Given the description of an element on the screen output the (x, y) to click on. 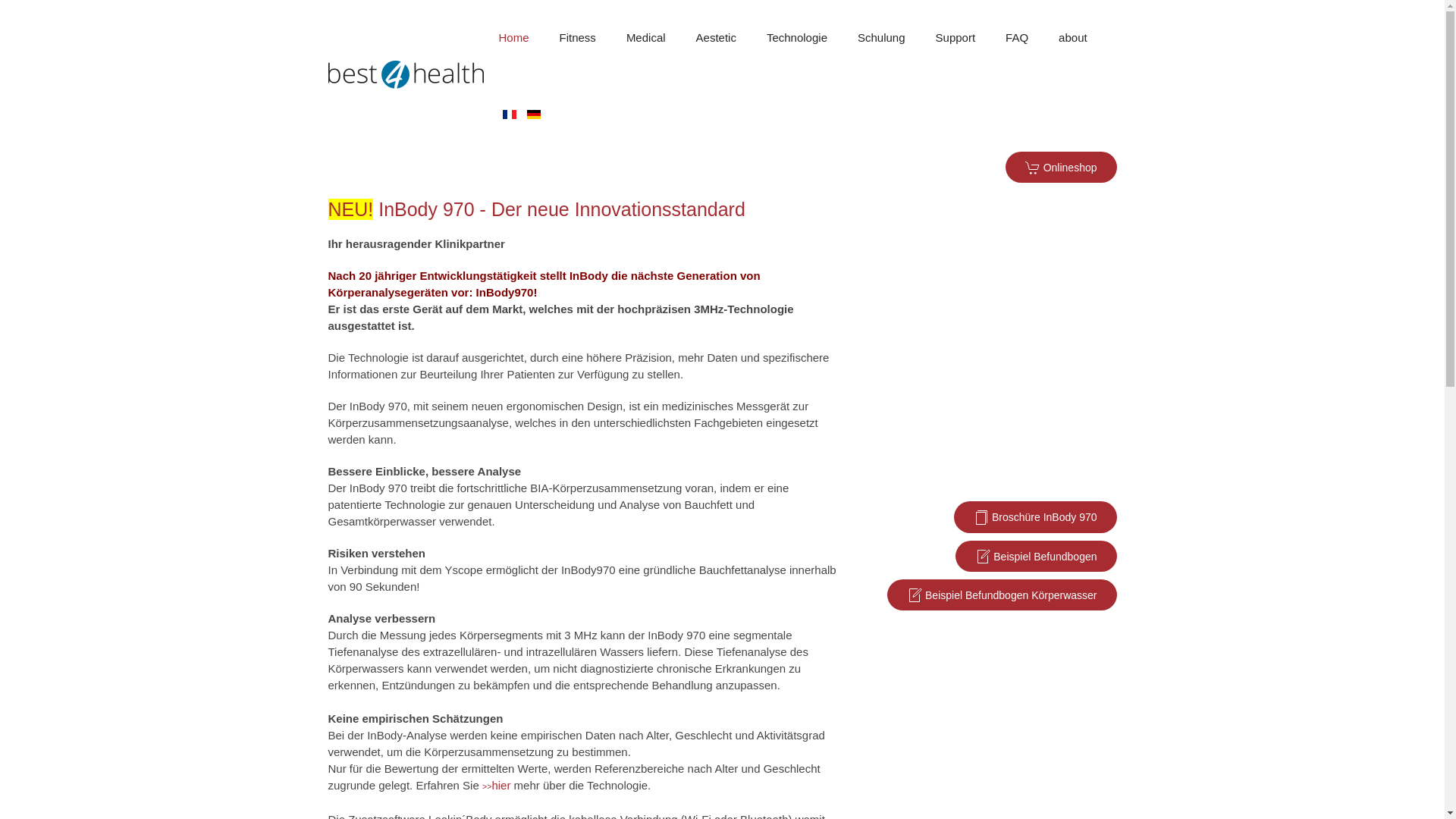
about Element type: text (1072, 37)
Beispiel Befundbogen Element type: text (1035, 555)
>>hier Element type: text (496, 784)
Schulung Element type: text (881, 37)
FAQ Element type: text (1016, 37)
Technologie Element type: text (796, 37)
Home Element type: text (513, 37)
Fitness Element type: text (577, 37)
Aestetic Element type: text (715, 37)
Deutsch (Deutschland) Element type: hover (533, 114)
Onlineshop Element type: text (1061, 166)
Medical Element type: text (645, 37)
Support Element type: text (955, 37)
